Given the description of an element on the screen output the (x, y) to click on. 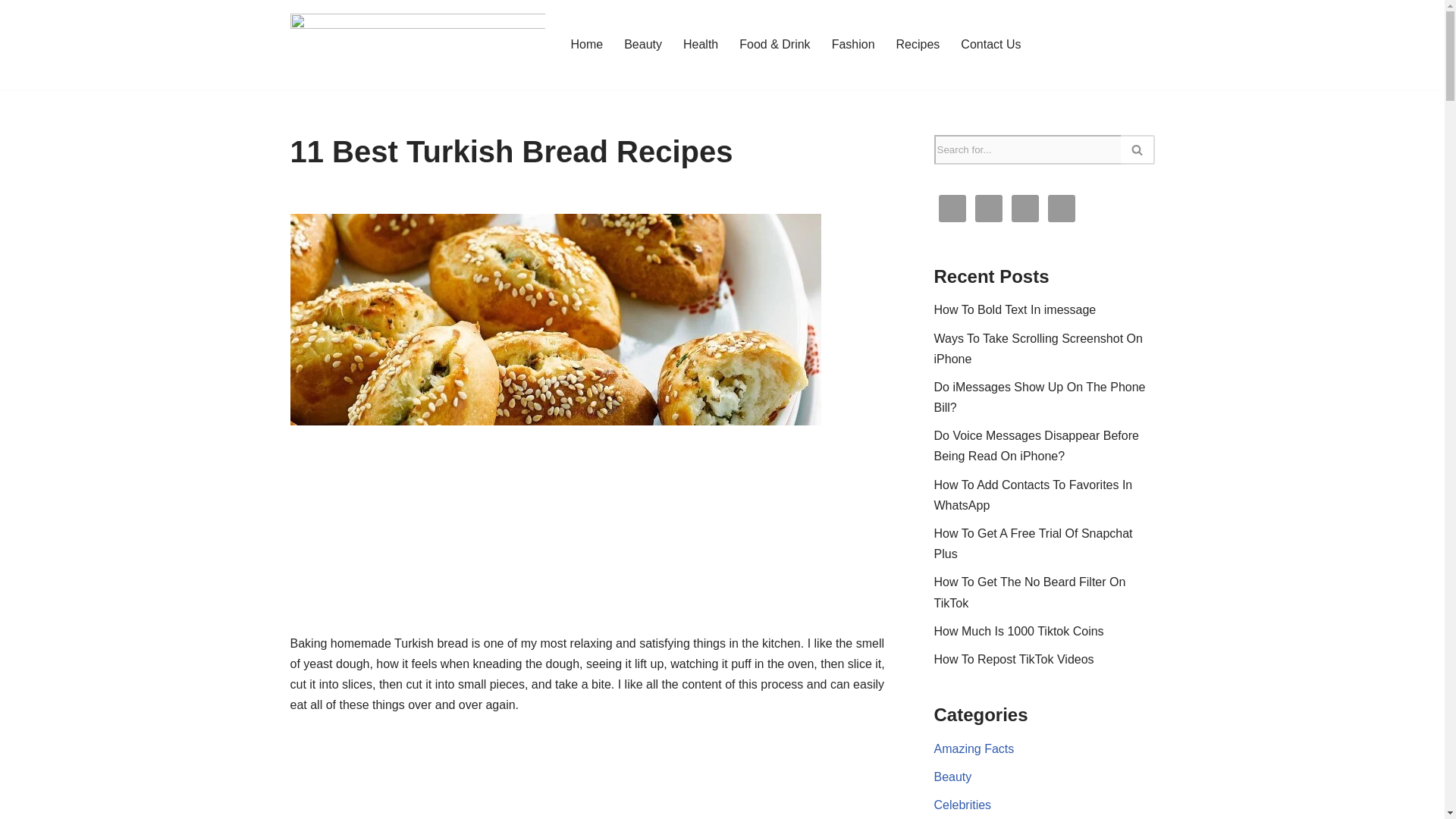
Beauty (643, 44)
Home (586, 44)
Skip to content (11, 31)
Contact Us (990, 44)
Fashion (853, 44)
Recipes (918, 44)
Health (699, 44)
